Given the description of an element on the screen output the (x, y) to click on. 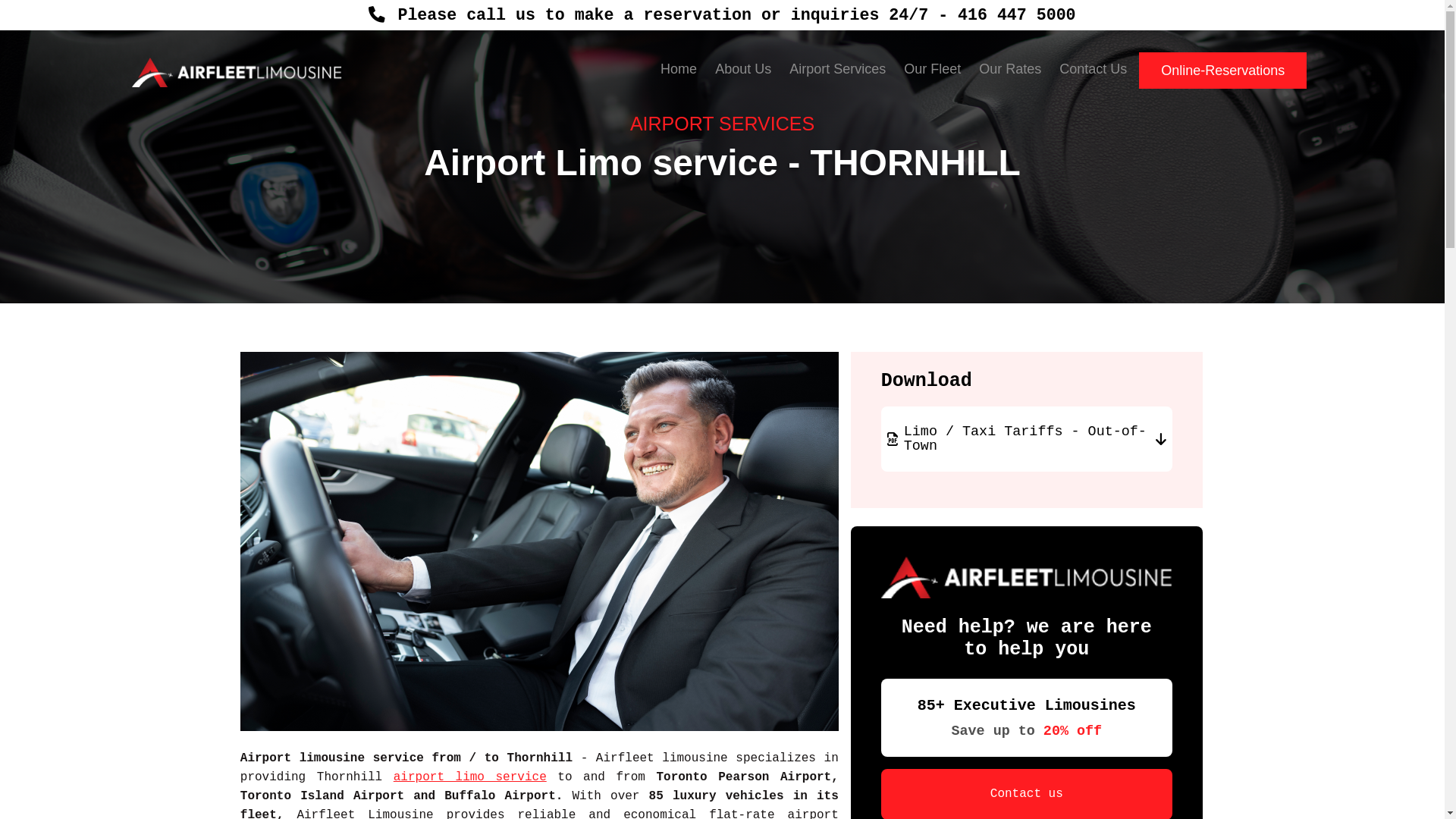
airport limo service Element type: text (469, 777)
About Us Element type: text (743, 69)
Airport Services Element type: text (837, 69)
Our Rates Element type: text (1009, 69)
Limo / Taxi Tariffs - Out-of-Town Element type: text (1026, 438)
Online-Reservations Element type: text (1222, 70)
Contact Us Element type: text (1092, 69)
Home Element type: text (678, 69)
Our Fleet Element type: text (931, 69)
